Given the description of an element on the screen output the (x, y) to click on. 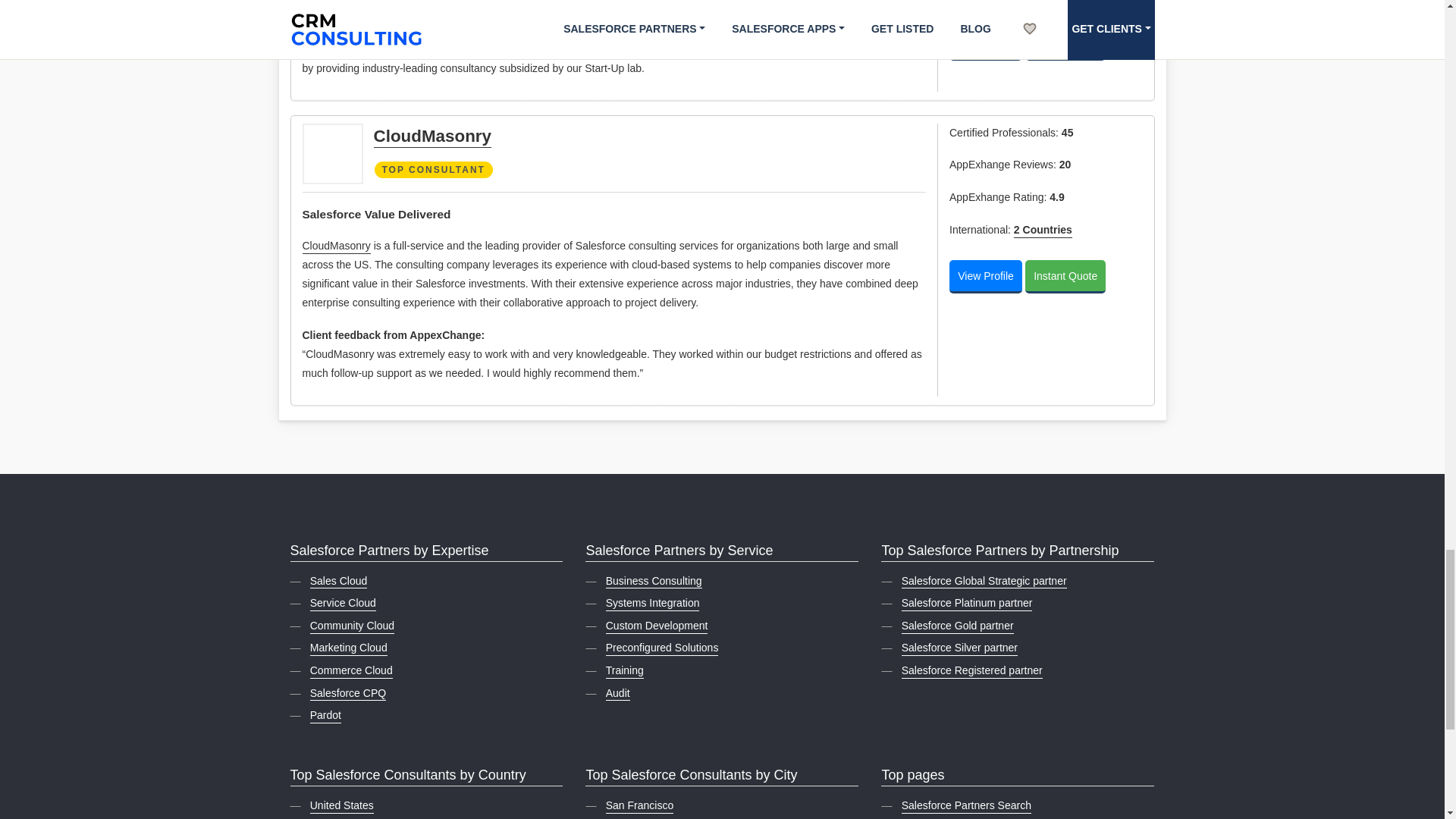
United States, United Kingdom (1042, 230)
